Given the description of an element on the screen output the (x, y) to click on. 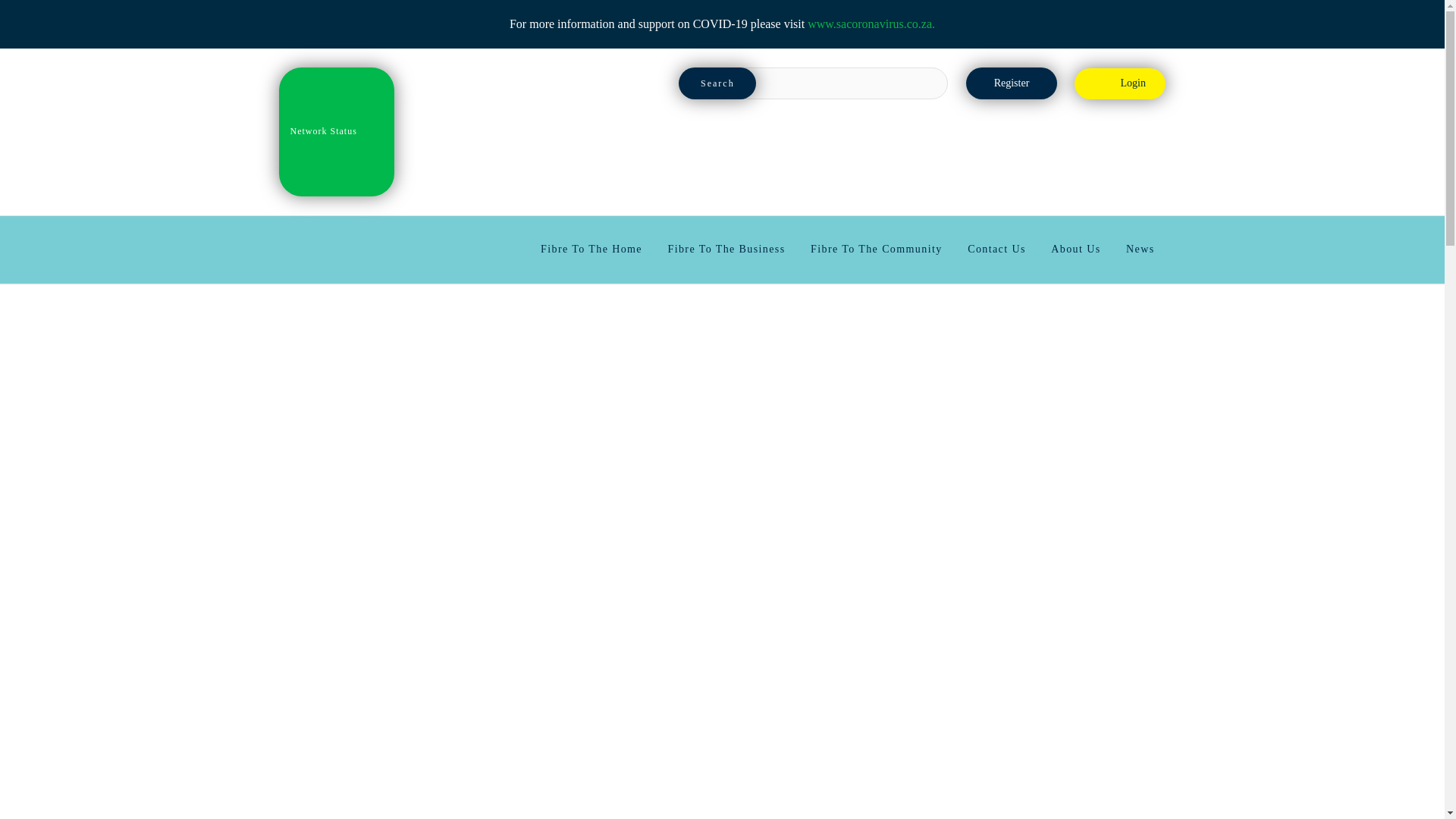
www.sacoronavirus.co.za. (871, 23)
Network Status (336, 131)
Contact Us (997, 249)
Fibre To The Community (876, 249)
Register (1011, 83)
Fibre To The Home (591, 249)
Search (716, 83)
News (1139, 249)
Search (716, 83)
About Us (1075, 249)
